Given the description of an element on the screen output the (x, y) to click on. 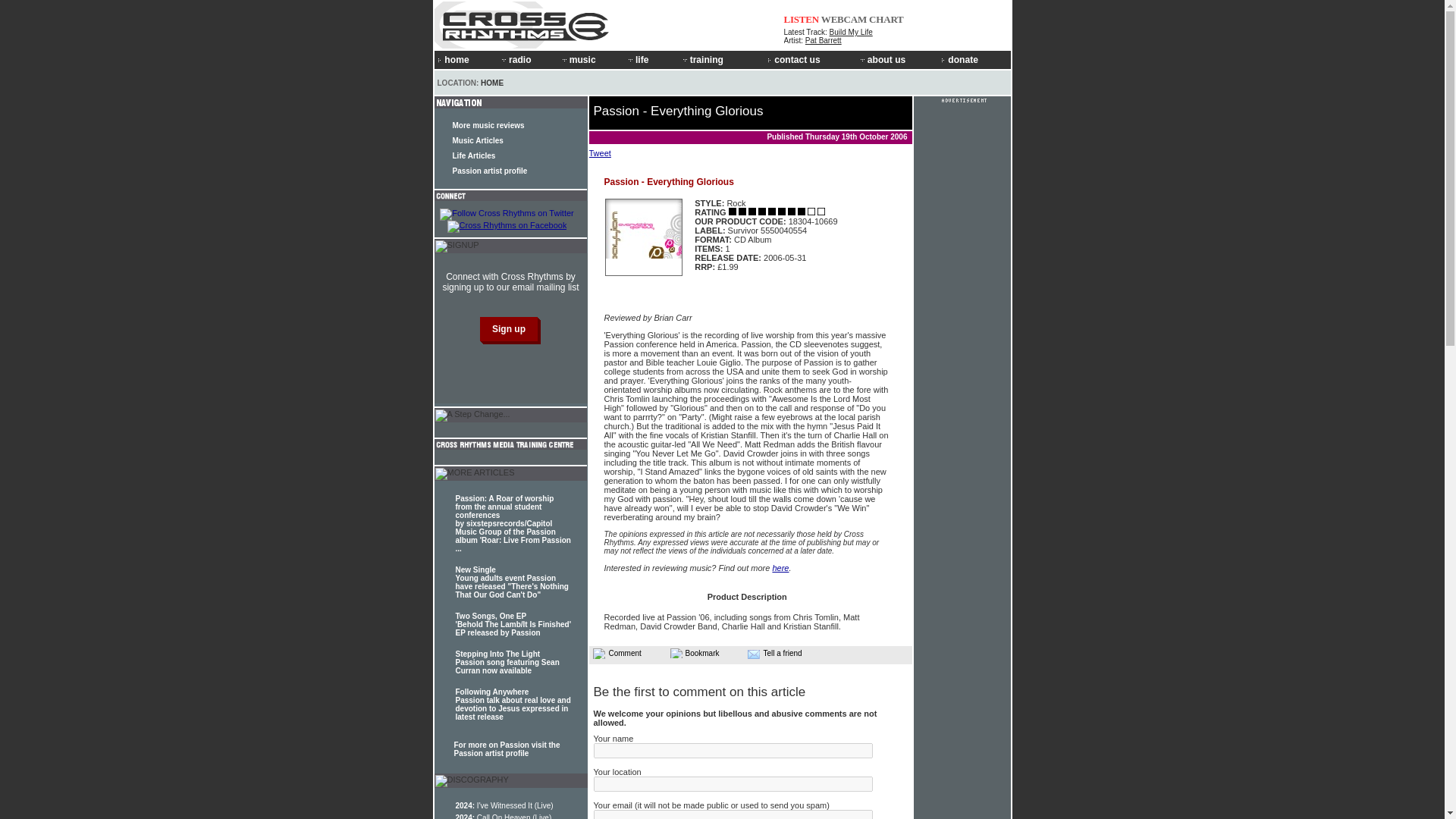
8 (790, 211)
8 (811, 211)
8 (801, 211)
home (466, 59)
8 (751, 211)
training (723, 59)
Sign up (508, 328)
Pat Barrett (823, 40)
radio (528, 59)
contact us (811, 59)
